Given the description of an element on the screen output the (x, y) to click on. 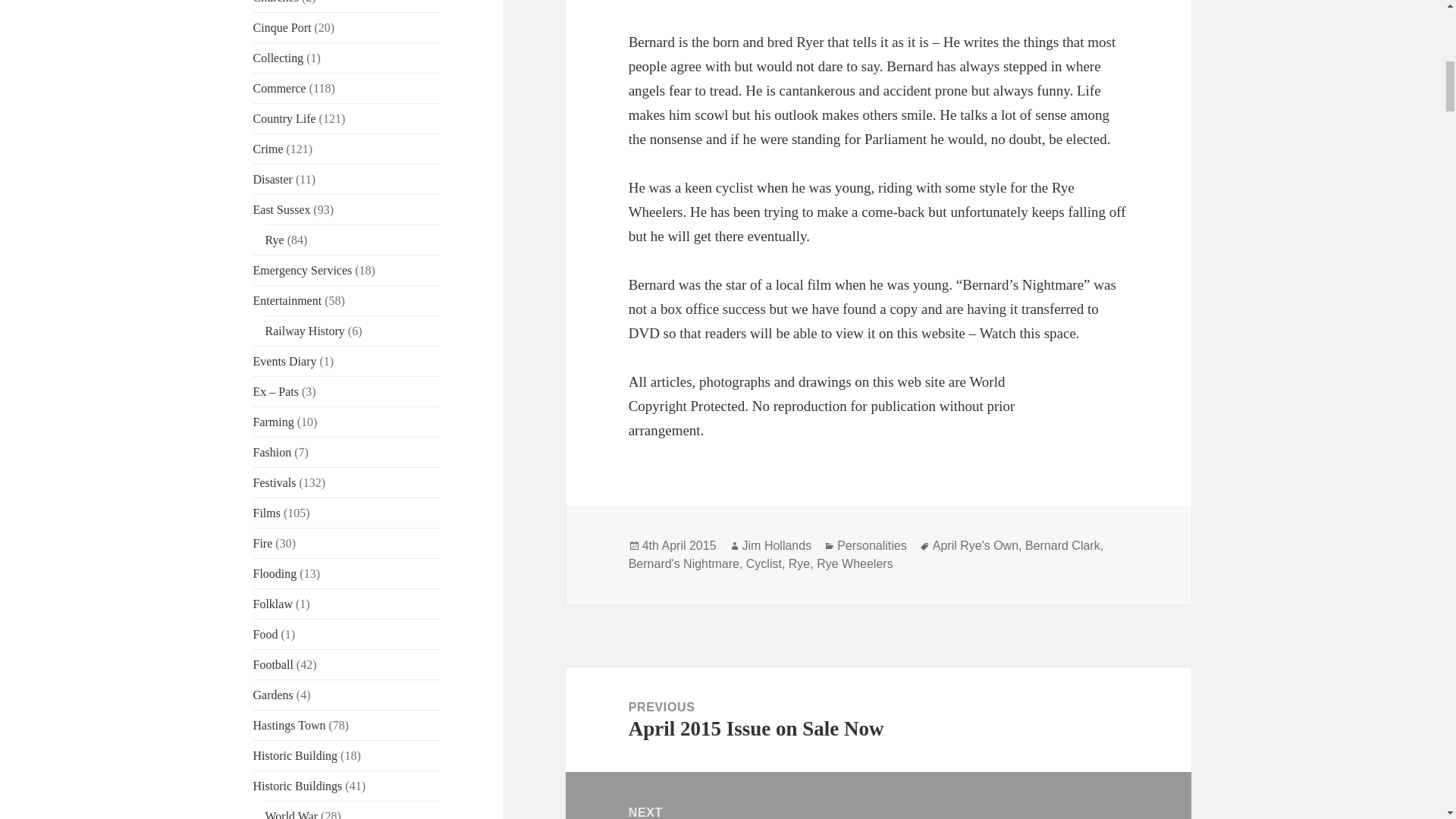
Food (265, 634)
Rye (273, 239)
Films (267, 512)
Festivals (275, 481)
Emergency Services (302, 269)
Entertainment (287, 300)
Crime (268, 148)
Fire (263, 543)
Churches (275, 2)
Football (273, 664)
Railway History (304, 330)
Flooding (275, 573)
Country Life (284, 118)
Collecting (278, 57)
Disaster (272, 178)
